Given the description of an element on the screen output the (x, y) to click on. 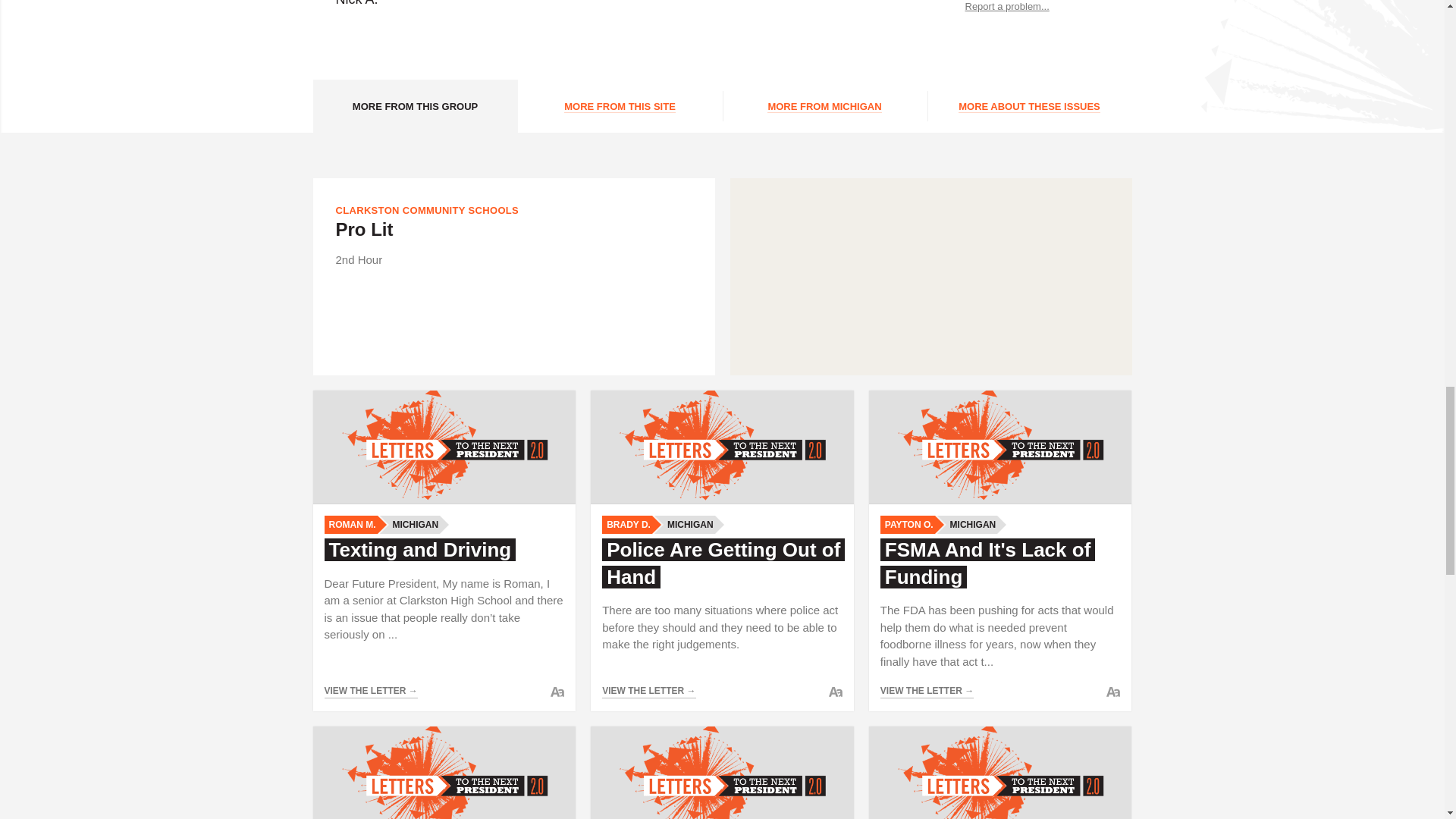
MORE ABOUT THESE ISSUES (1028, 105)
MORE FROM THIS SITE (619, 105)
MORE FROM THIS GROUP (414, 105)
MORE FROM MICHIGAN (824, 105)
CLARKSTON COMMUNITY SCHOOLS (426, 210)
